Given the description of an element on the screen output the (x, y) to click on. 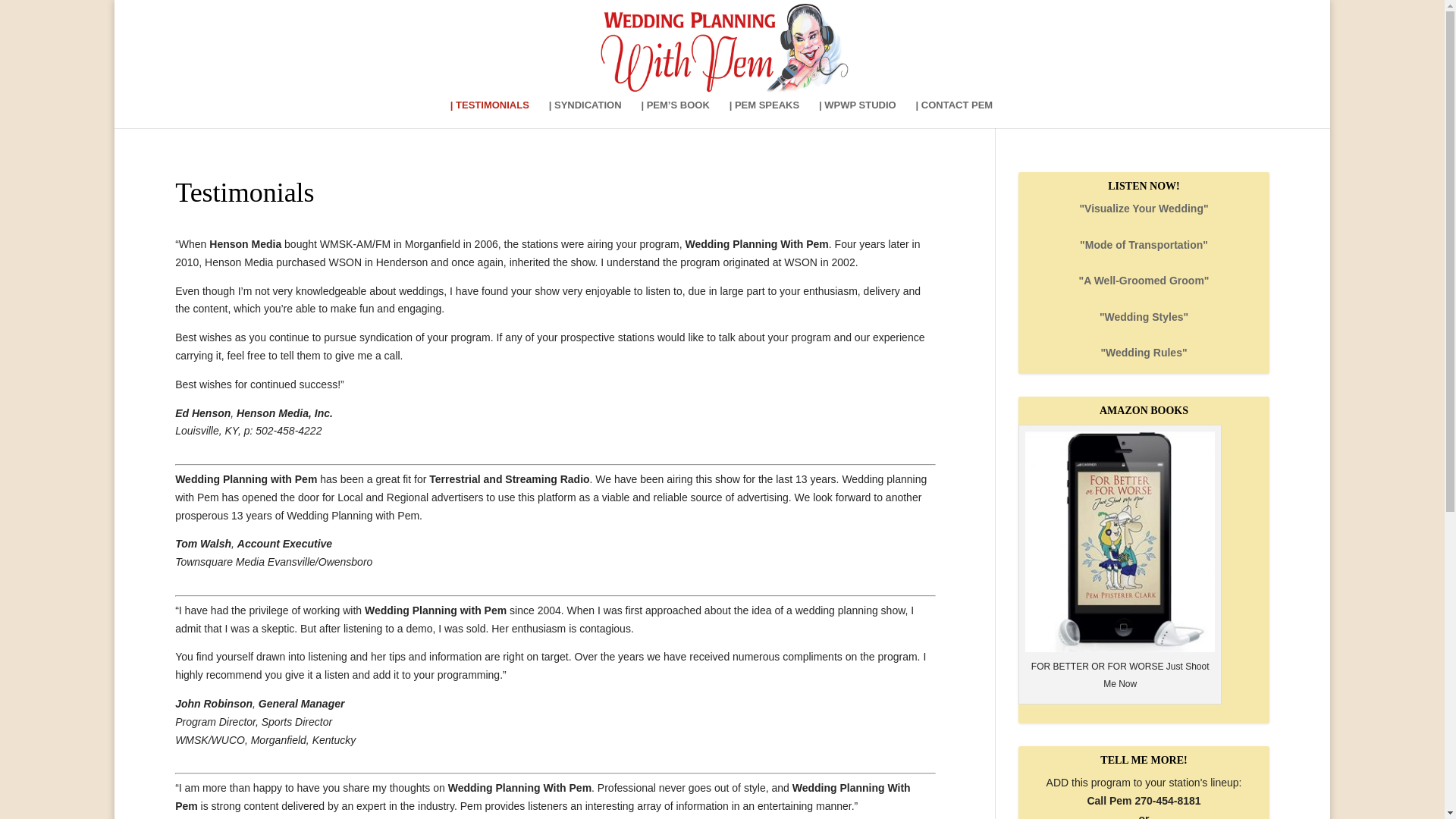
"Mode of Transportation" (1144, 244)
"Visualize Your Wedding" (1143, 208)
"Wedding Rules" (1143, 352)
"A Well-Groomed Groom" (1143, 280)
"Wedding Styles" (1143, 316)
